Given the description of an element on the screen output the (x, y) to click on. 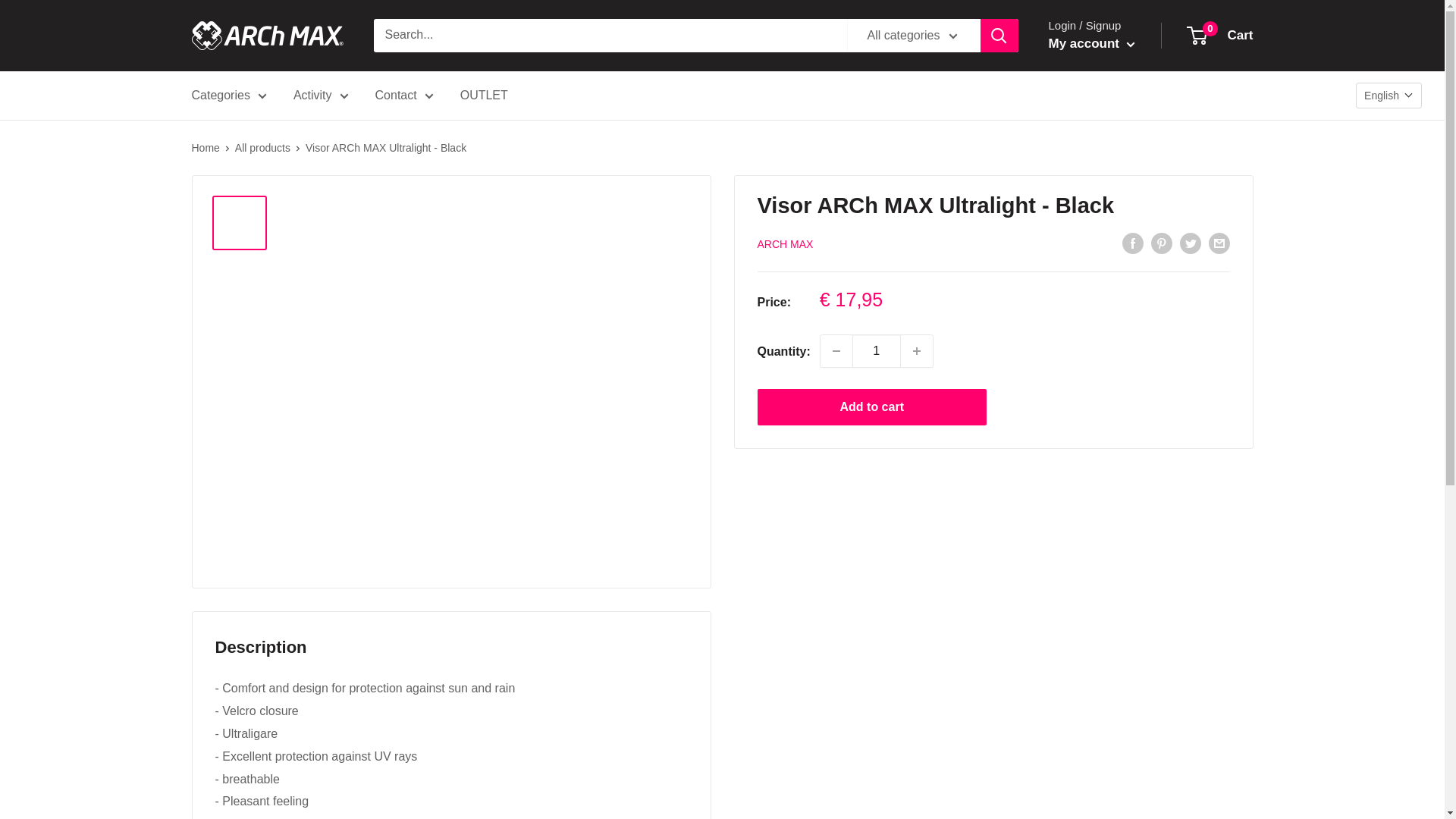
Increase quantity by 1 (917, 350)
Decrease quantity by 1 (836, 350)
ARCh MAX (266, 35)
1 (876, 350)
